Given the description of an element on the screen output the (x, y) to click on. 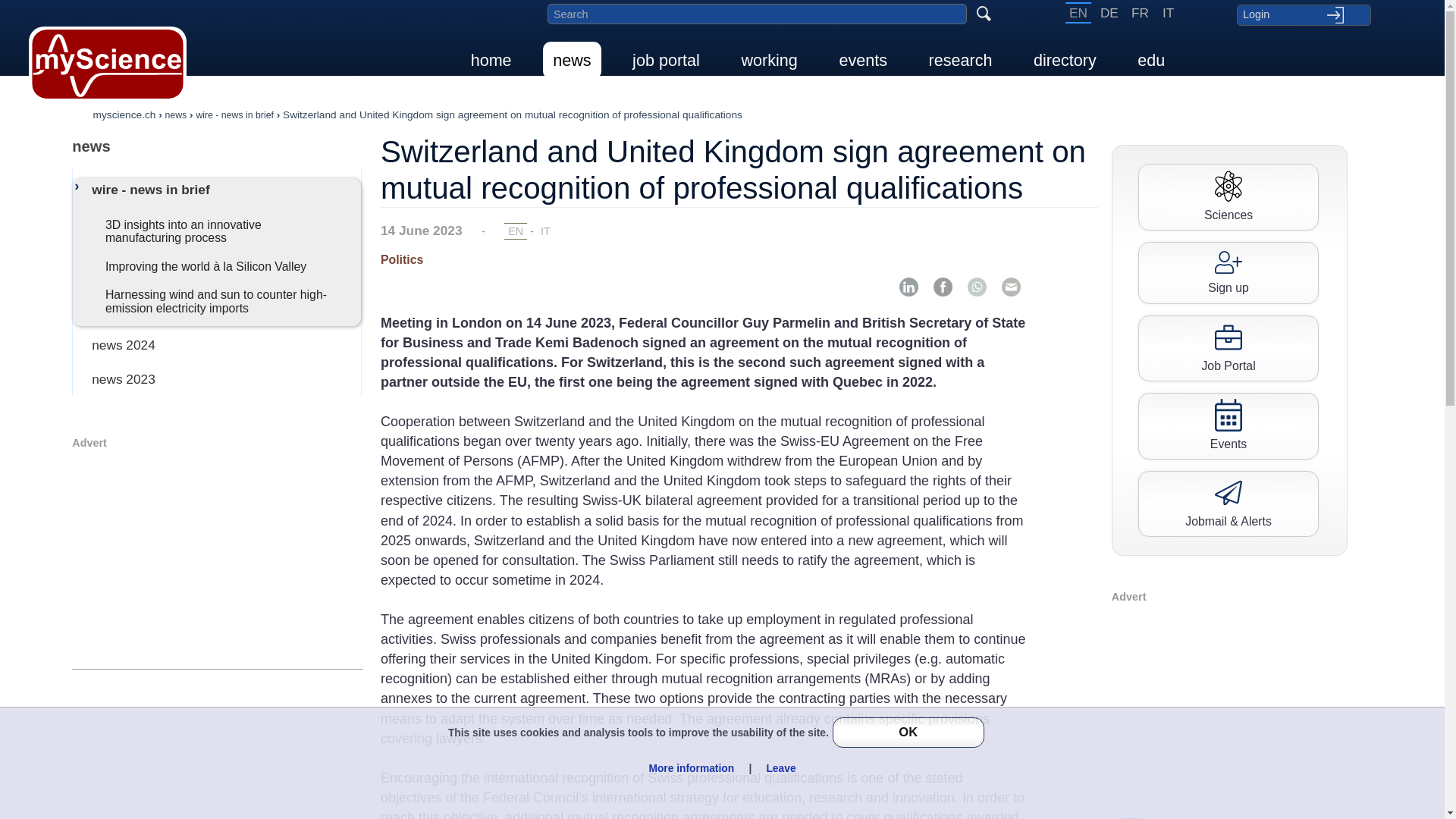
Italiano (1167, 12)
Search in myscience.ch (756, 14)
research (960, 59)
Login (1303, 14)
myScience Home (107, 63)
English (515, 230)
job portal (666, 59)
Share on LinkedIn (909, 287)
EN (1077, 12)
DE (1109, 12)
Advertisement (216, 557)
 news  (216, 145)
news (571, 59)
English (1077, 12)
Italiano (545, 230)
